Given the description of an element on the screen output the (x, y) to click on. 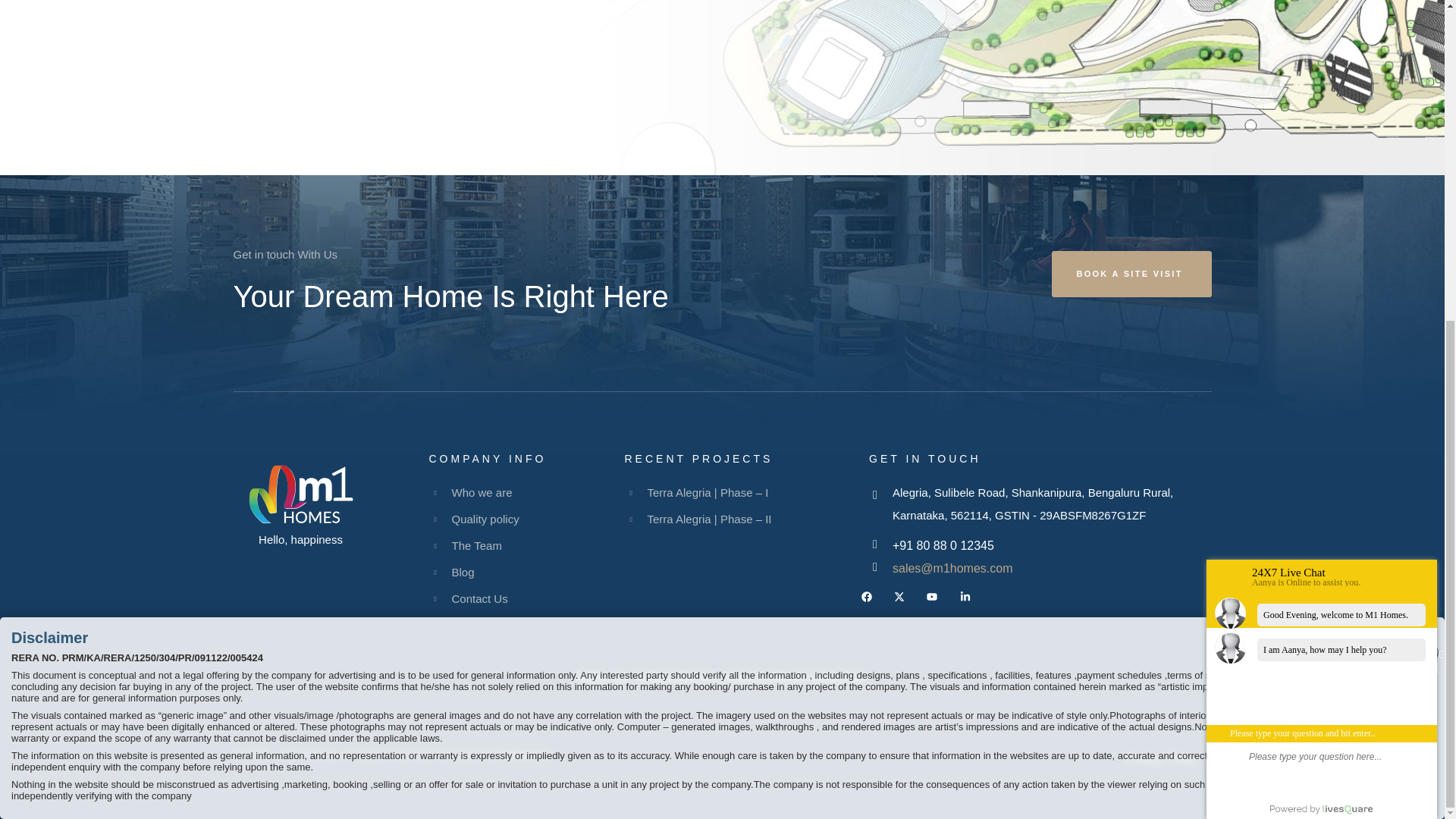
Quality policy (526, 518)
The Team (526, 545)
Blog (526, 572)
Contact Us (526, 599)
Inbounderz (523, 753)
Who we are (526, 492)
BOOK A SITE VISIT  (1131, 273)
